Given the description of an element on the screen output the (x, y) to click on. 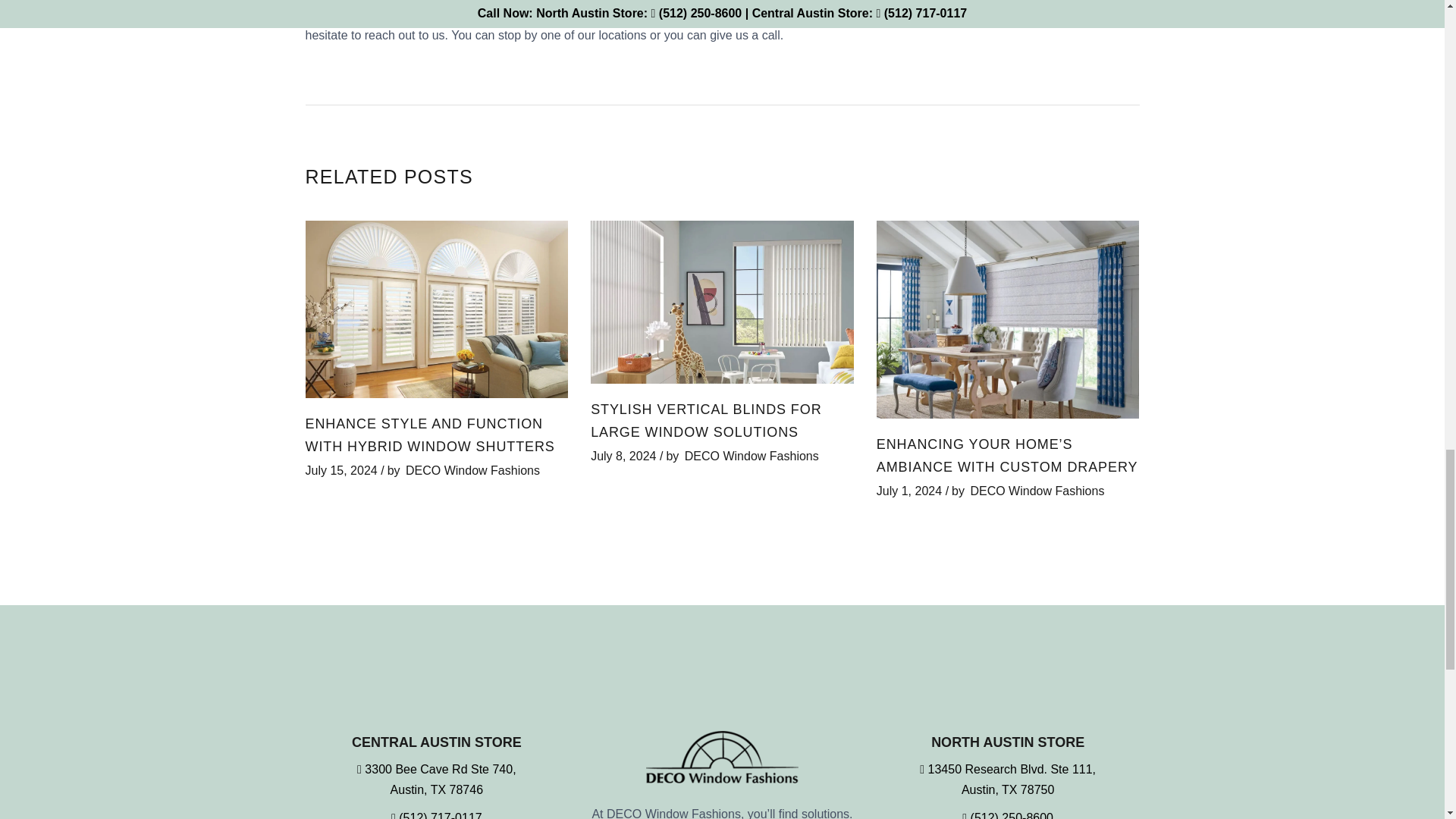
Enhance Style and Function with Hybrid Window Shutters (429, 435)
Stylish Vertical Blinds for Large Window Solutions (706, 420)
Stylish Vertical Blinds for Large Window Solutions (722, 301)
Enhance Style and Function with Hybrid Window Shutters (435, 309)
